Given the description of an element on the screen output the (x, y) to click on. 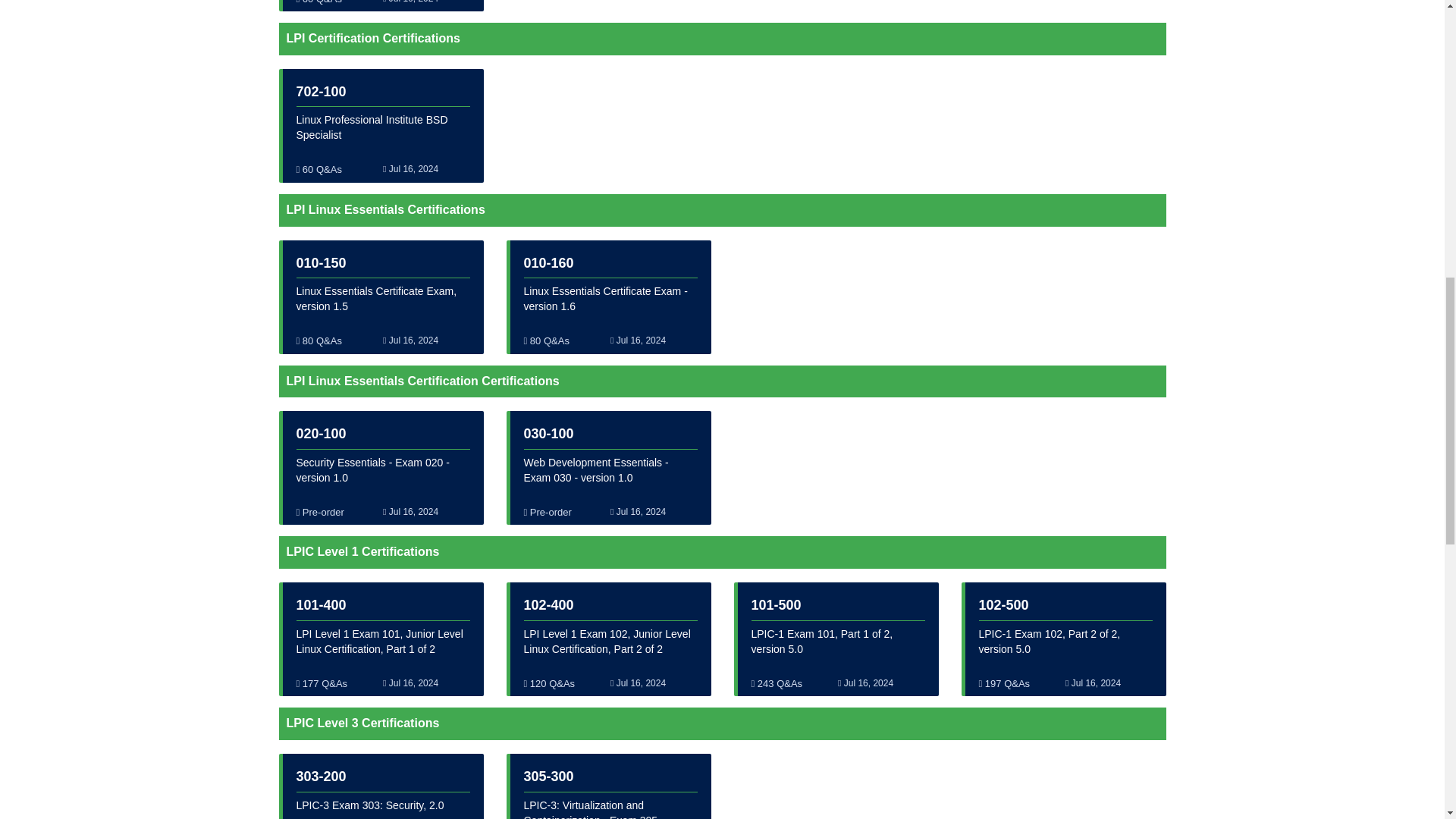
303-200 (320, 776)
010-150 (320, 263)
030-100 (547, 433)
702-100 (320, 91)
101-500 (775, 604)
101-400 (320, 604)
010-160 (547, 263)
020-100 (320, 433)
102-400 (547, 604)
102-500 (1002, 604)
